Given the description of an element on the screen output the (x, y) to click on. 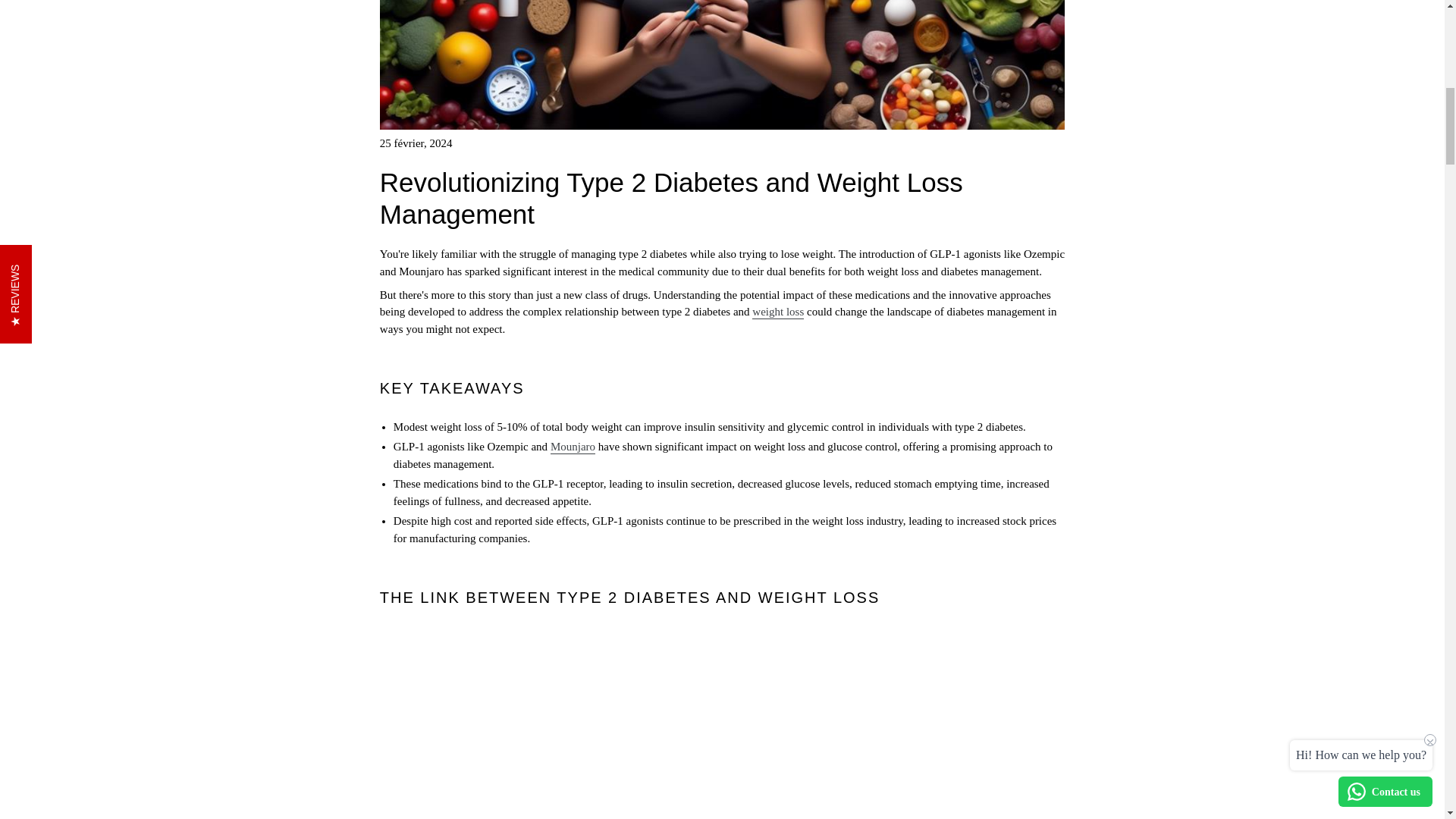
Mounjaro (572, 447)
weight loss (777, 312)
YouTube video player (722, 723)
